Given the description of an element on the screen output the (x, y) to click on. 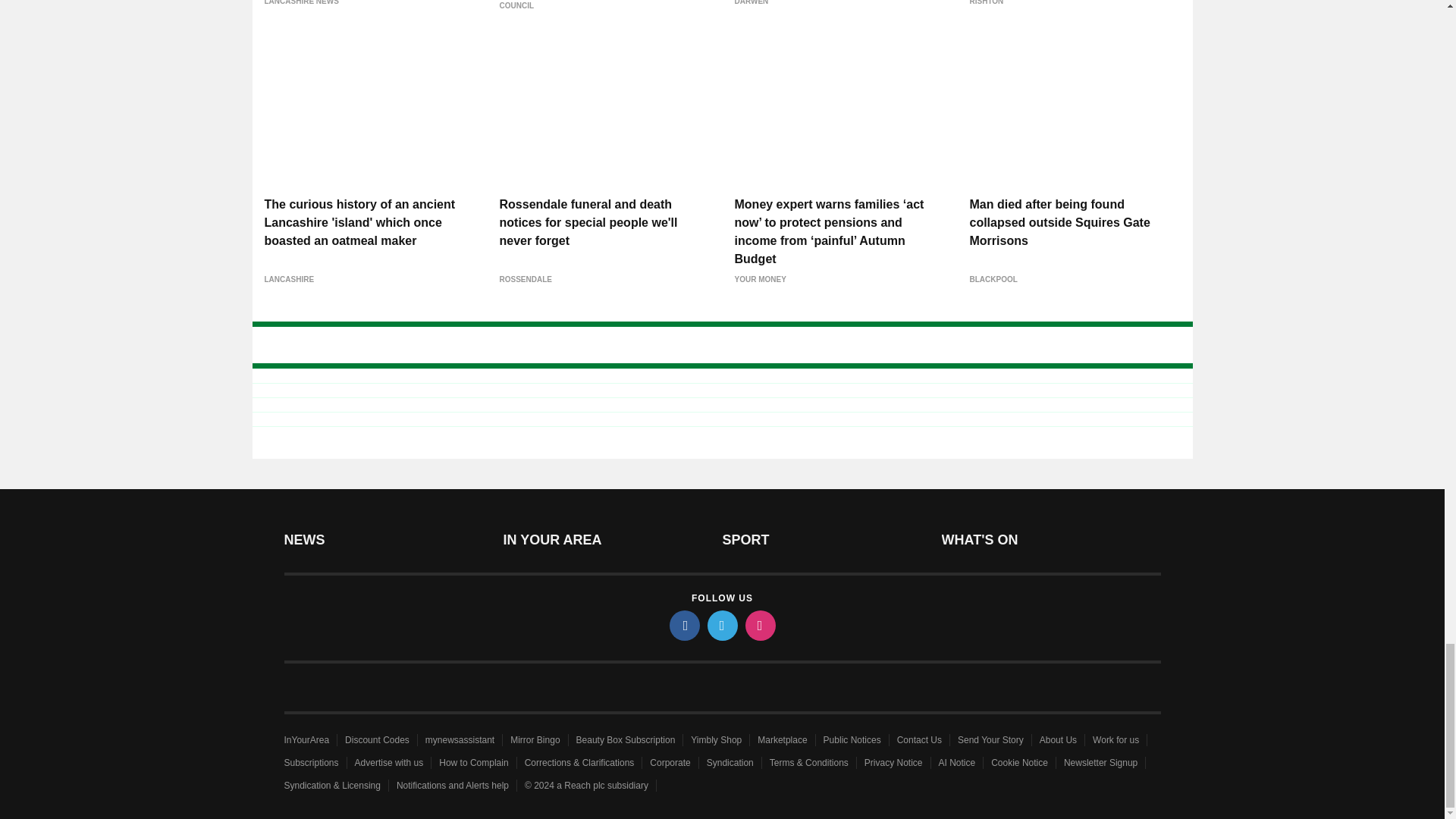
twitter (721, 625)
instagram (759, 625)
facebook (683, 625)
